Given the description of an element on the screen output the (x, y) to click on. 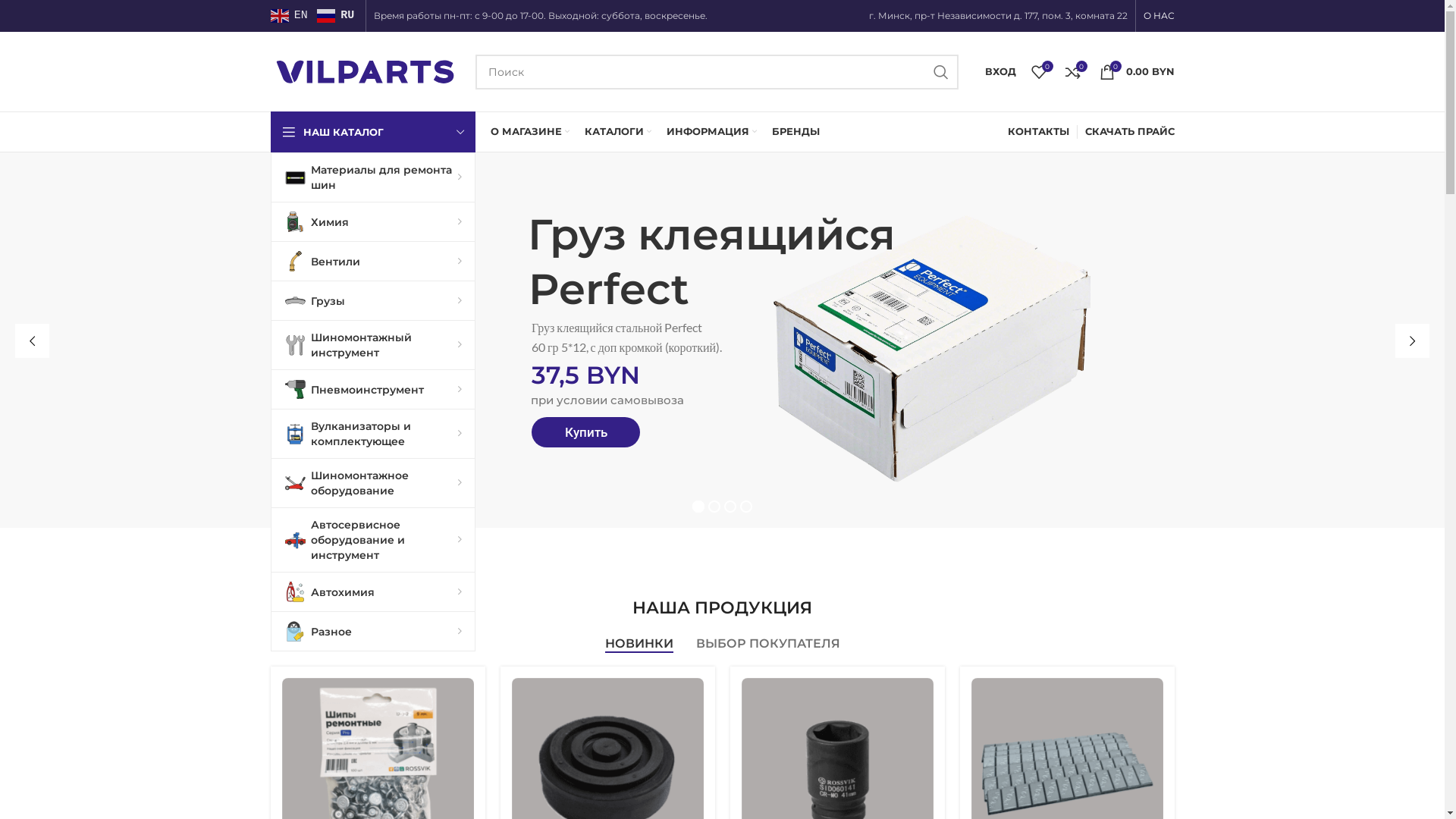
0 Element type: text (1072, 71)
0
0.00 BYN Element type: text (1137, 71)
EN Element type: text (289, 15)
0 Element type: text (1038, 71)
RU Element type: text (336, 15)
